Given the description of an element on the screen output the (x, y) to click on. 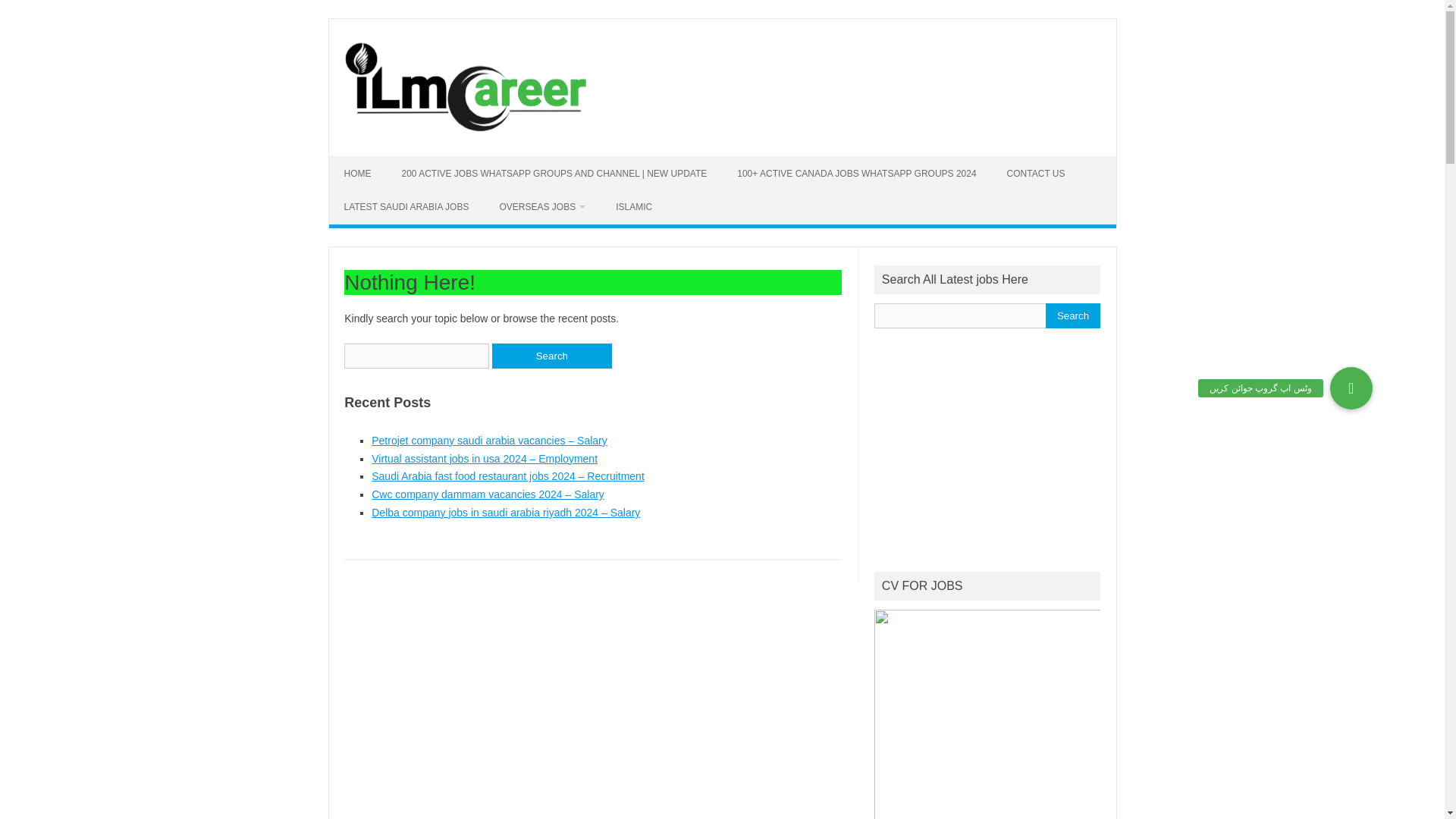
Search (1072, 315)
Search (551, 355)
HOME (358, 173)
Search (1072, 315)
LATEST SAUDI ARABIA JOBS (406, 206)
Search (551, 355)
CONTACT US (1035, 173)
ILMCAREER (464, 130)
ISLAMIC (632, 206)
Advertisement (1010, 449)
OVERSEAS JOBS (541, 206)
